Given the description of an element on the screen output the (x, y) to click on. 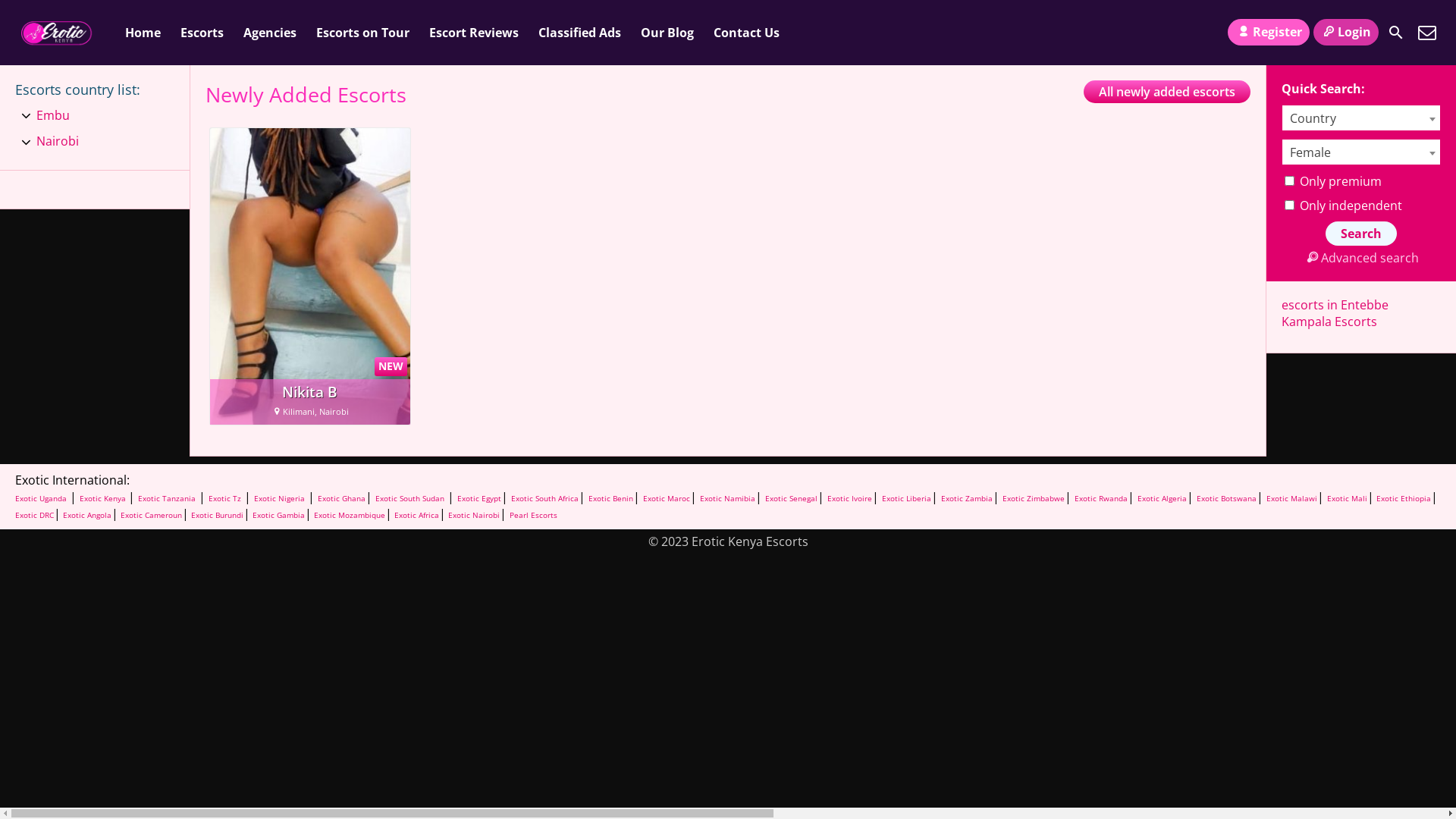
Exotic Burundi Element type: text (215, 514)
Agencies Element type: text (269, 32)
Exotic Mali Element type: text (1347, 497)
Nairobi Element type: text (57, 141)
Exotic Ethiopia Element type: text (1402, 497)
Escorts Element type: text (201, 32)
Exotic South Africa Element type: text (544, 497)
Exotic Ghana Element type: text (341, 497)
Exotic Gambia Element type: text (277, 514)
Exotic Mozambique Element type: text (348, 514)
Escort Reviews Element type: text (473, 32)
Exotic Nigeria Element type: text (279, 497)
Exotic Cameroun Element type: text (150, 514)
Exotic DRC Element type: text (34, 514)
Exotic Angola Element type: text (85, 514)
Classified Ads Element type: text (579, 32)
Exotic Namibia Element type: text (727, 497)
Home Element type: text (142, 32)
Exotic Algeria Element type: text (1161, 497)
Exotic Malawi Element type: text (1291, 497)
Exotic Botswana Element type: text (1226, 497)
Search Element type: text (1360, 233)
Exotic Zimbabwe Element type: text (1033, 497)
Login Element type: text (1345, 31)
Exotic Zambia Element type: text (966, 497)
Exotic Liberia Element type: text (906, 497)
All newly added escorts Element type: text (1166, 91)
Exotic Ivoire Element type: text (849, 497)
Exotic Rwanda Element type: text (1100, 497)
Escorts on Tour Element type: text (362, 32)
Exotic Benin Element type: text (610, 497)
Exotic Nairobi Element type: text (472, 514)
Embu Element type: text (52, 115)
NEW
Nikita B
Kilimani, Nairobi Element type: text (310, 276)
Contact Us Element type: text (746, 32)
Exotic Maroc Element type: text (666, 497)
Exotic Africa Element type: text (415, 514)
escorts in Entebbe Element type: text (1334, 304)
Exotic Egypt Element type: text (479, 497)
Advanced search Element type: text (1360, 257)
Contact Us Element type: hover (1426, 32)
Exotic Uganda Element type: text (40, 497)
Kampala Escorts Element type: text (1329, 321)
Our Blog Element type: text (666, 32)
Register Element type: text (1267, 31)
Exotic Senegal Element type: text (791, 497)
Exotic Kenya Element type: text (103, 497)
Search Element type: hover (1395, 32)
Exotic Tanzania Element type: text (166, 497)
Exotic South Sudan Element type: text (409, 497)
Pearl Escorts Element type: text (533, 514)
Exotic Tz Element type: text (224, 497)
